Given the description of an element on the screen output the (x, y) to click on. 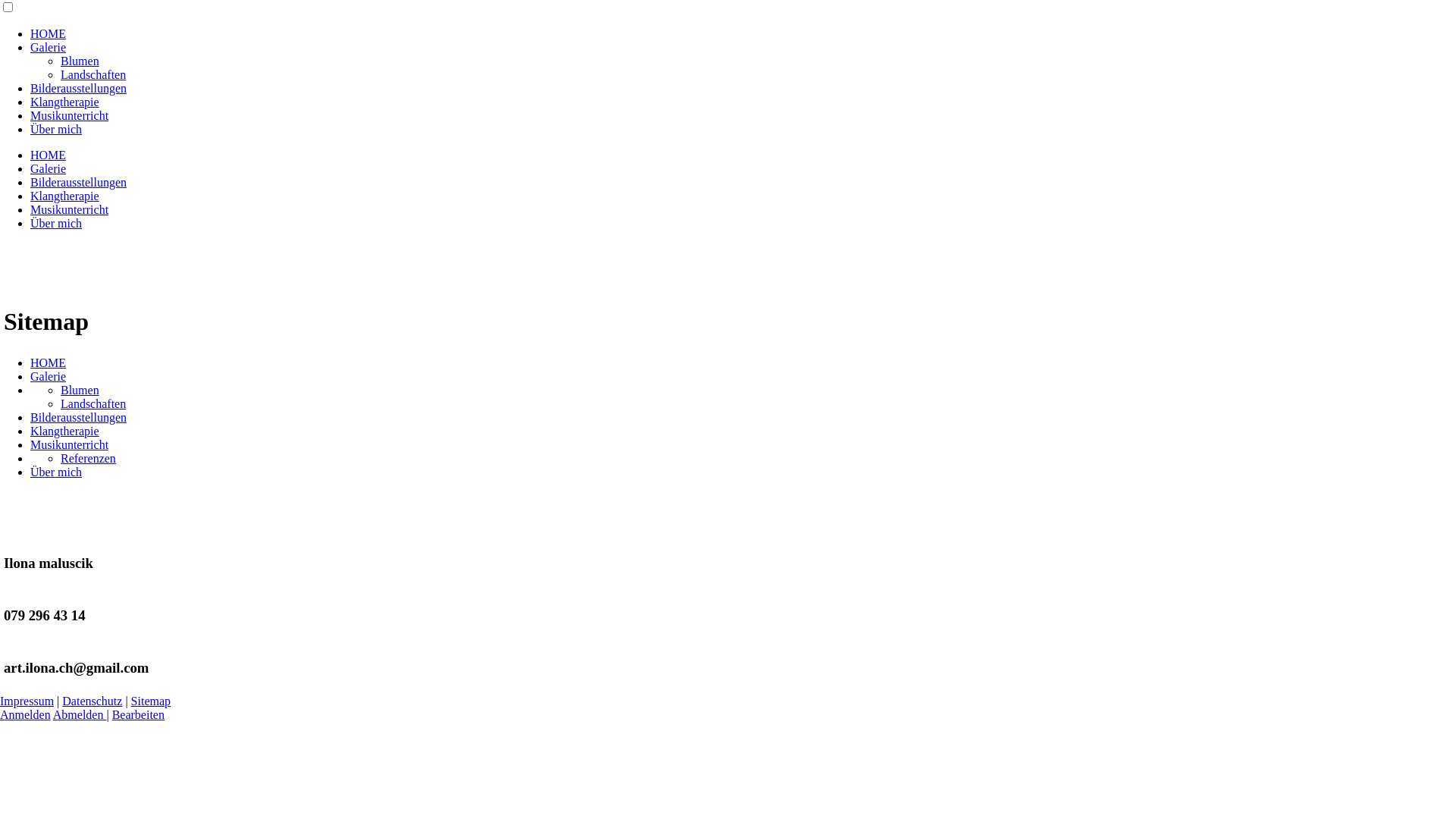
Abmelden Element type: text (79, 714)
Blumen Element type: text (79, 60)
Klangtherapie Element type: text (64, 195)
Musikunterricht Element type: text (69, 115)
Bilderausstellungen Element type: text (78, 87)
Klangtherapie Element type: text (64, 430)
Impressum Element type: text (26, 700)
Sitemap Element type: text (150, 700)
HOME Element type: text (47, 154)
HOME Element type: text (47, 362)
Bilderausstellungen Element type: text (78, 181)
Klangtherapie Element type: text (64, 101)
Anmelden Element type: text (25, 714)
Landschaften Element type: text (92, 403)
Bearbeiten Element type: text (138, 714)
Galerie Element type: text (47, 168)
Datenschutz Element type: text (92, 700)
Blumen Element type: text (79, 389)
Musikunterricht Element type: text (69, 209)
Galerie Element type: text (47, 46)
Musikunterricht Element type: text (69, 444)
Landschaften Element type: text (92, 74)
Bilderausstellungen Element type: text (78, 417)
Galerie Element type: text (47, 376)
HOME Element type: text (47, 33)
Referenzen Element type: text (88, 457)
